Given the description of an element on the screen output the (x, y) to click on. 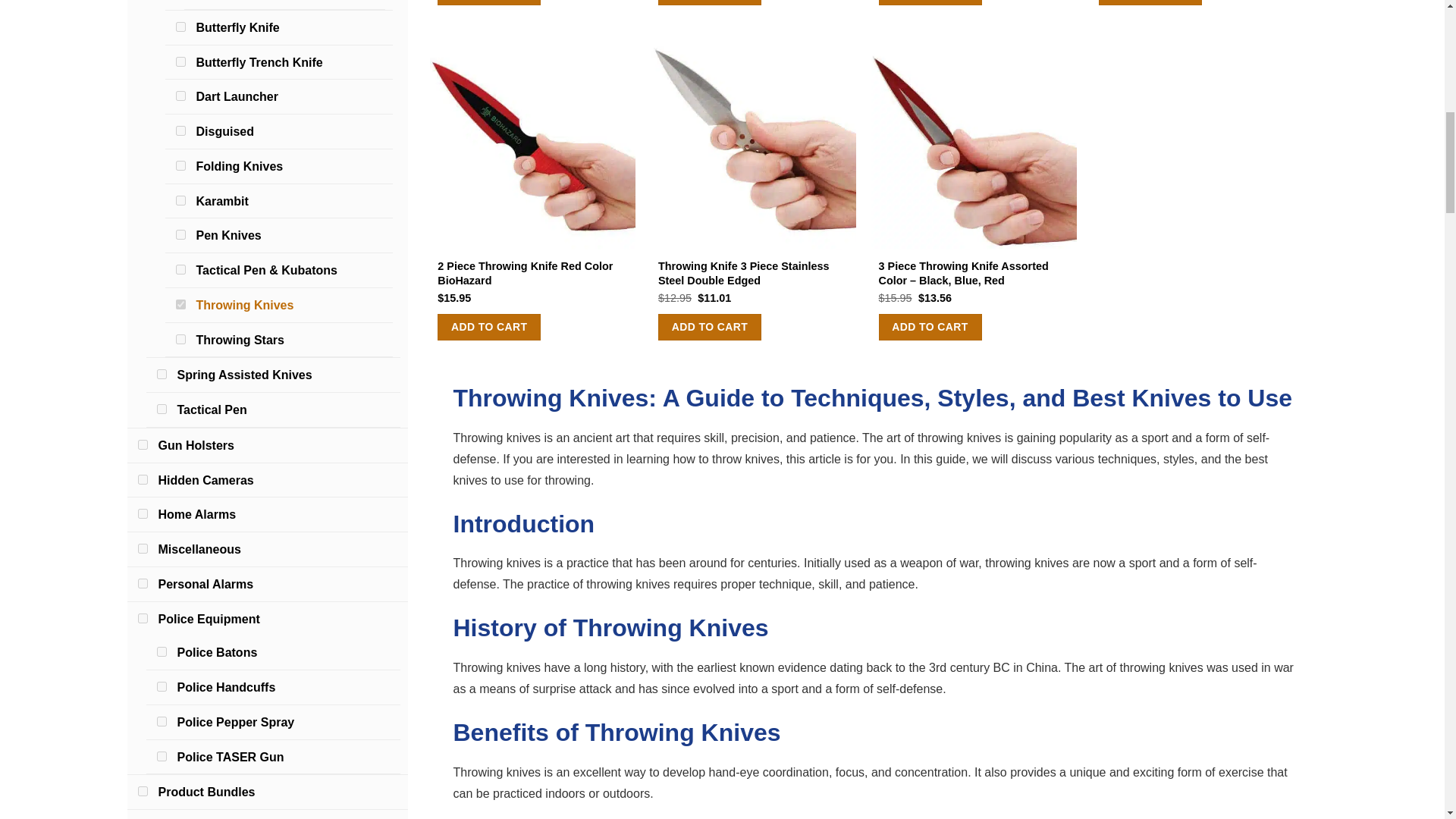
Dart Launcher (236, 96)
butterfly (181, 61)
Butterfly Trench Knife (258, 62)
Butterfly Knife (237, 27)
Disguised (224, 131)
butterfly-knife (181, 26)
